Given the description of an element on the screen output the (x, y) to click on. 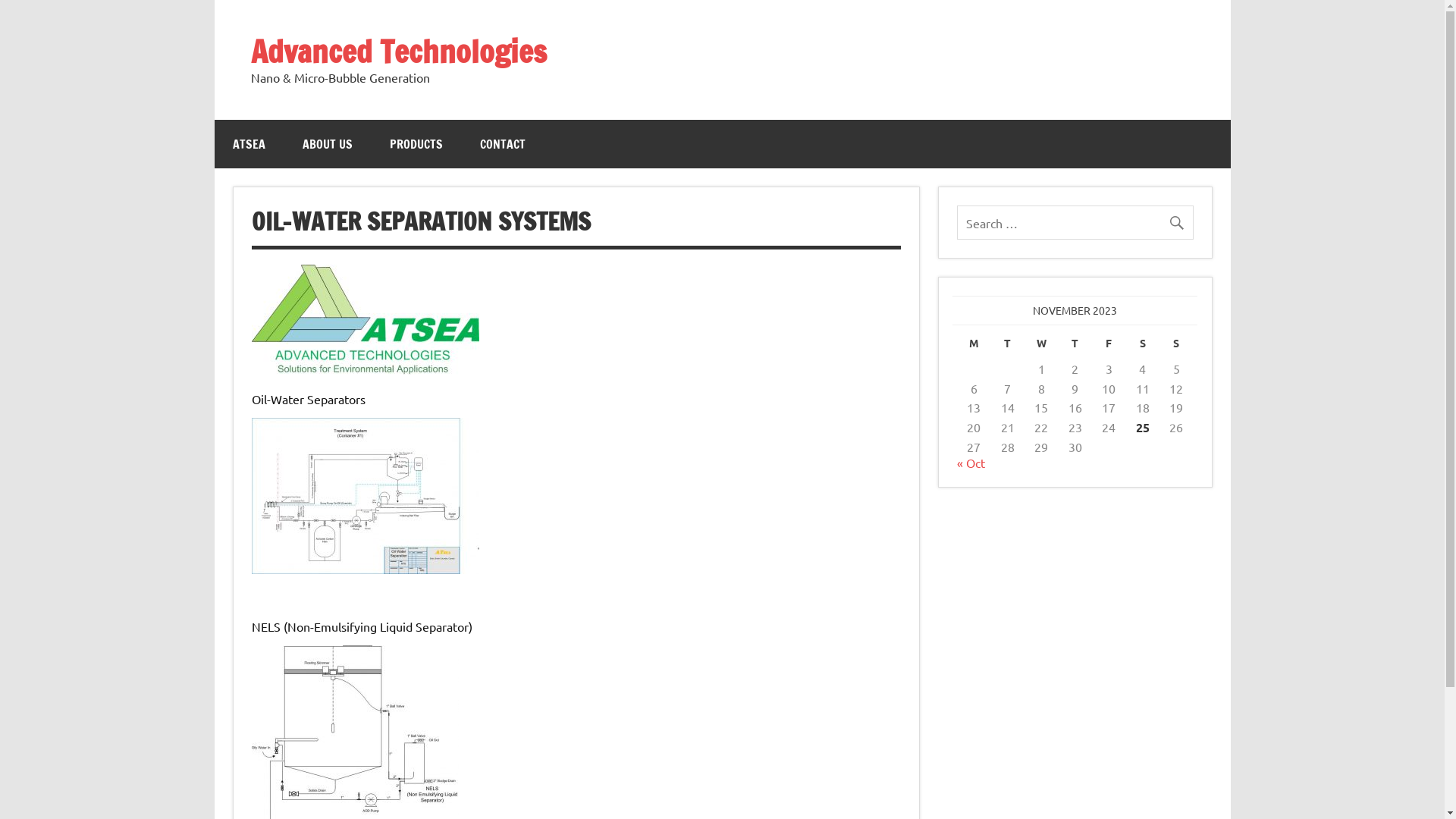
CONTACT Element type: text (501, 143)
ABOUT US Element type: text (326, 143)
PRODUCTS Element type: text (416, 143)
Advanced Technologies Element type: text (398, 50)
ATSEA Element type: text (247, 143)
